Given the description of an element on the screen output the (x, y) to click on. 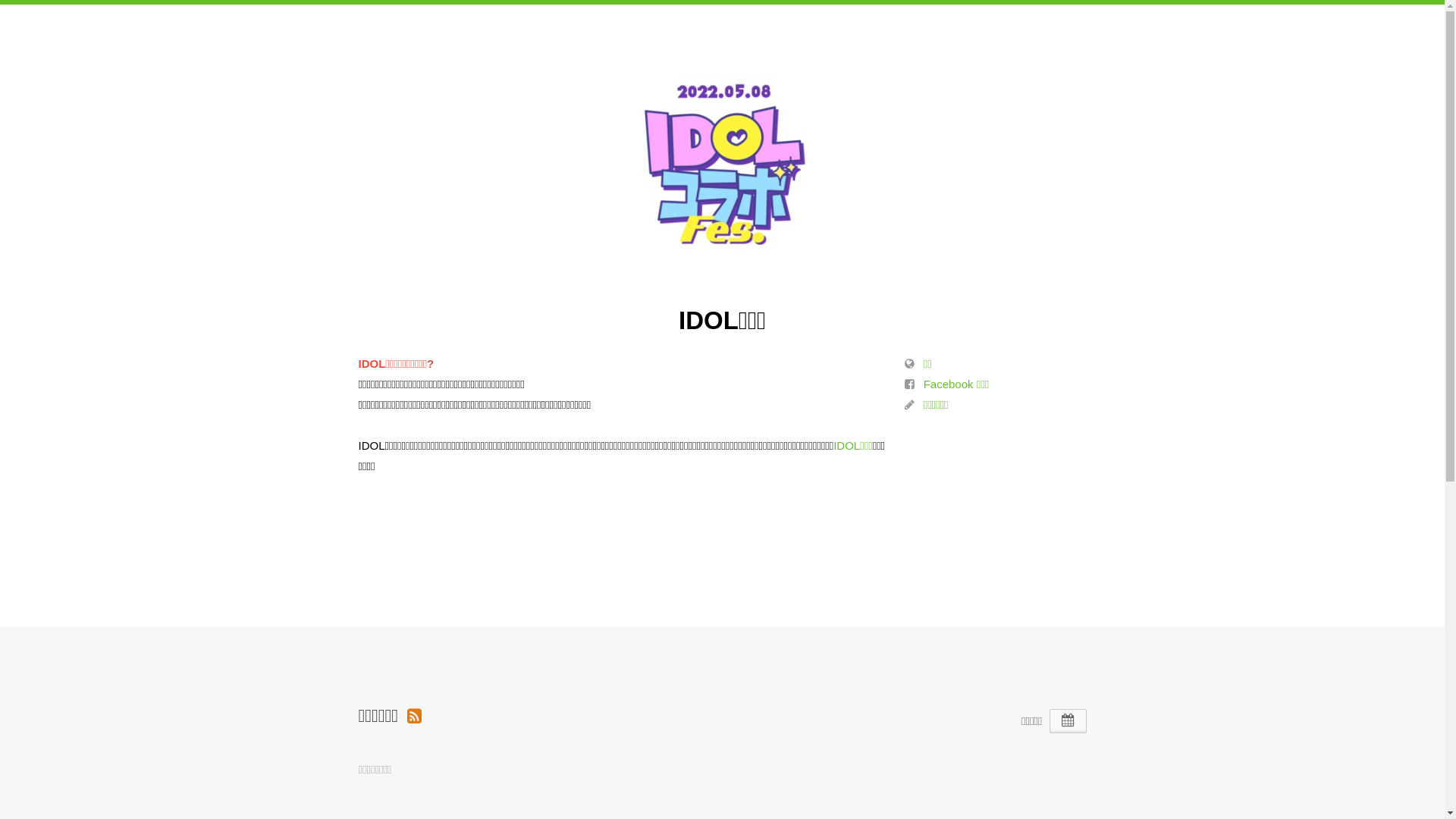
Organization Events RSS Element type: hover (414, 715)
